Given the description of an element on the screen output the (x, y) to click on. 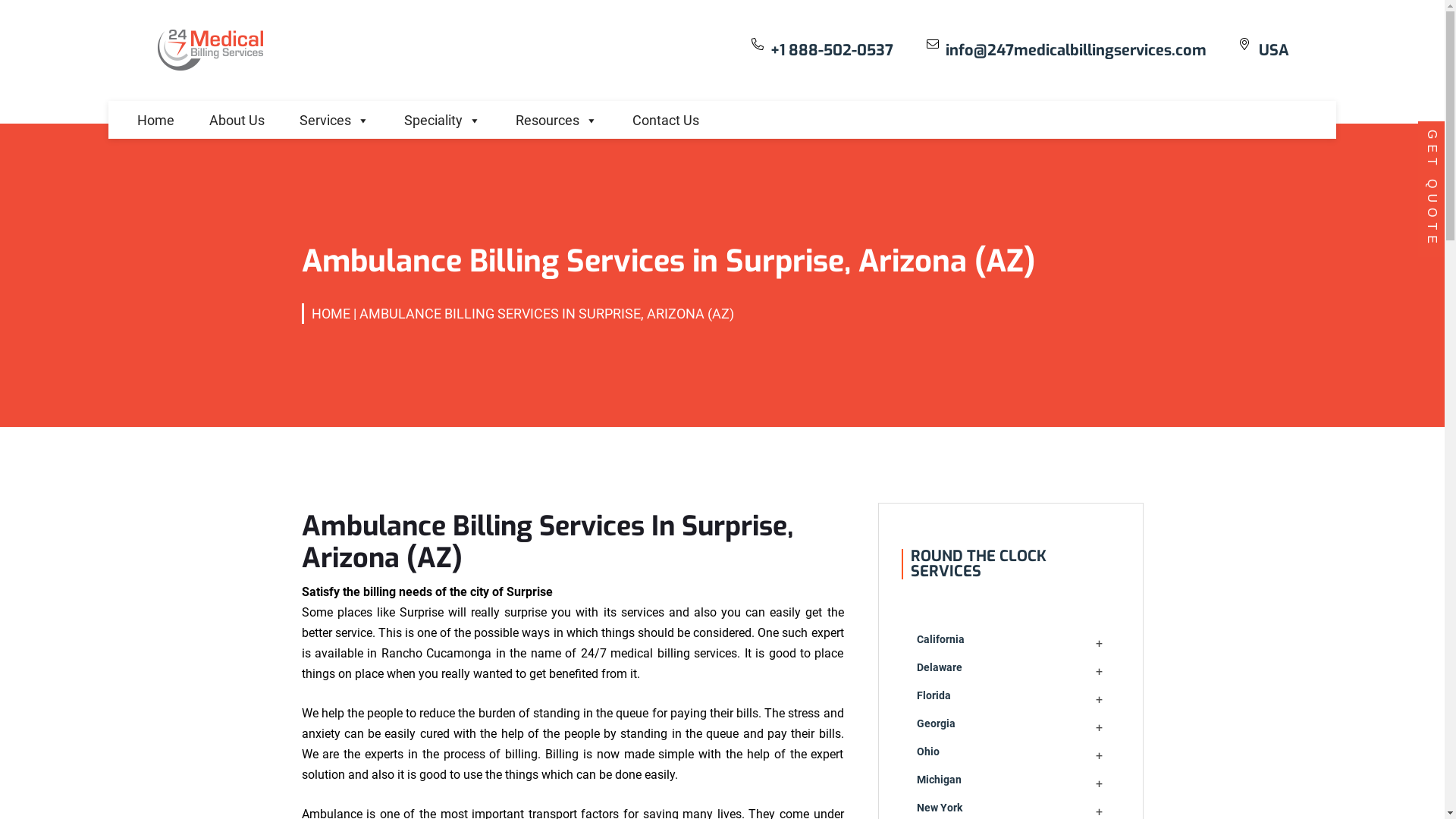
Home Element type: text (155, 115)
Florida Element type: text (933, 695)
Services Element type: text (334, 115)
About Us Element type: text (236, 115)
New York Element type: text (938, 807)
GET QUOTE Element type: text (1431, 189)
Resources Element type: text (556, 115)
Ohio Element type: text (927, 751)
Michigan Element type: text (938, 779)
Delaware Element type: text (938, 667)
HOME Element type: text (329, 313)
Speciality Element type: text (442, 115)
Georgia Element type: text (935, 723)
Contact Us Element type: text (665, 115)
California Element type: text (939, 639)
